Given the description of an element on the screen output the (x, y) to click on. 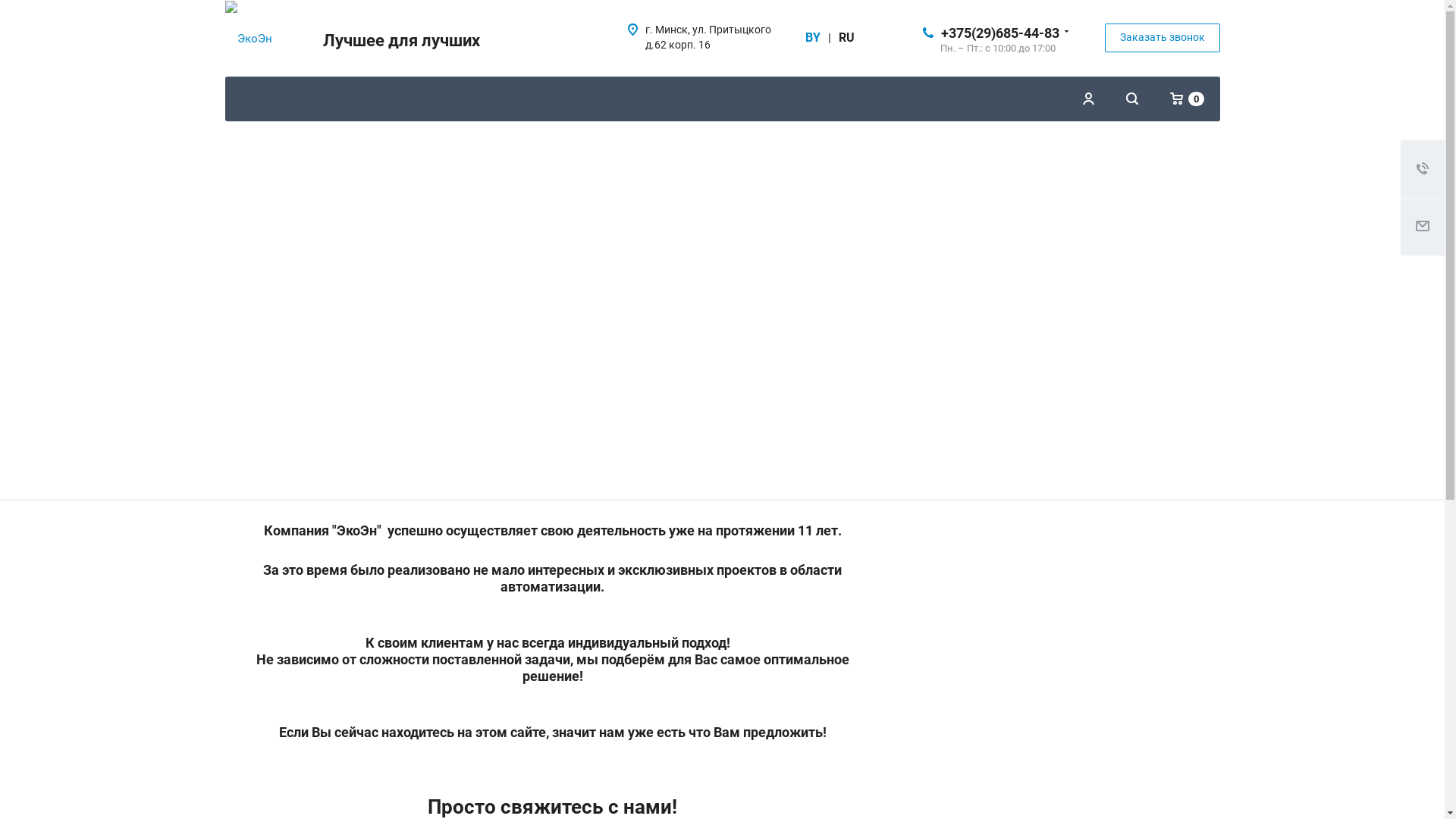
RU Element type: text (846, 37)
0 Element type: text (1187, 98)
+375(29)685-44-83 Element type: text (999, 32)
BY Element type: text (812, 37)
